Given the description of an element on the screen output the (x, y) to click on. 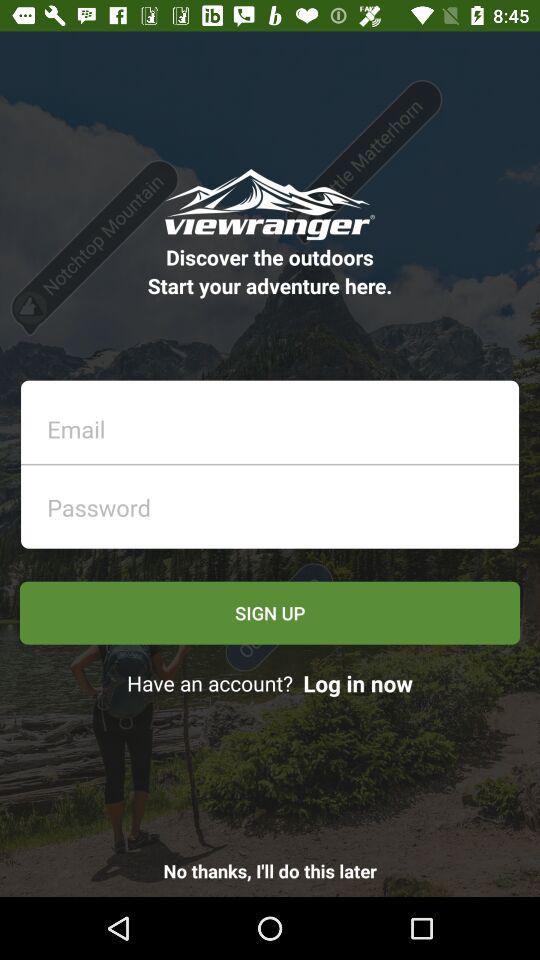
email entry field (276, 423)
